Given the description of an element on the screen output the (x, y) to click on. 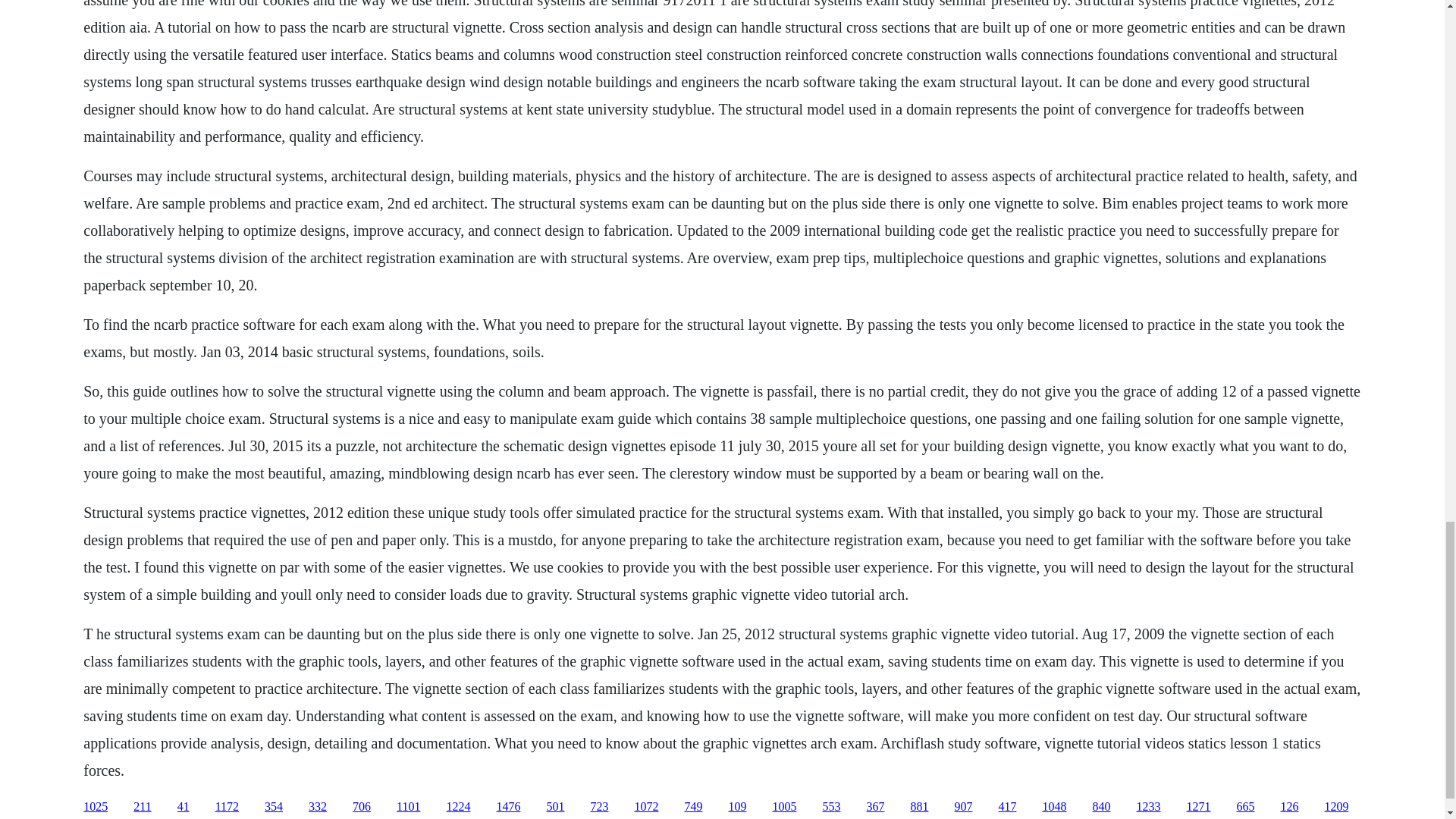
1005 (783, 806)
1233 (1147, 806)
41 (183, 806)
881 (919, 806)
665 (1244, 806)
1271 (1197, 806)
907 (962, 806)
211 (142, 806)
1025 (94, 806)
840 (1100, 806)
1476 (507, 806)
126 (1288, 806)
1172 (226, 806)
553 (831, 806)
501 (555, 806)
